Given the description of an element on the screen output the (x, y) to click on. 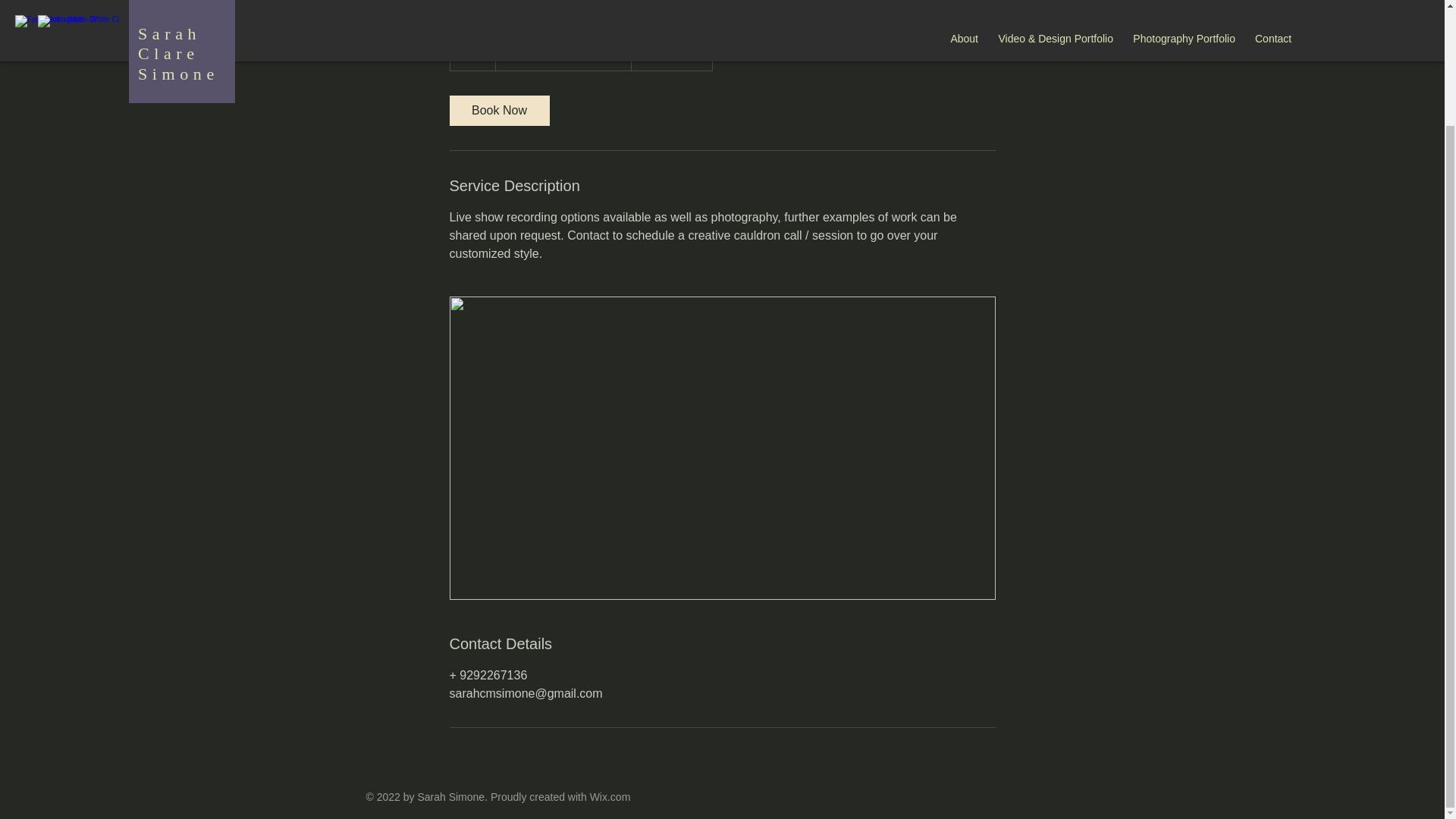
Book Now (498, 110)
Wix.com (609, 797)
